Given the description of an element on the screen output the (x, y) to click on. 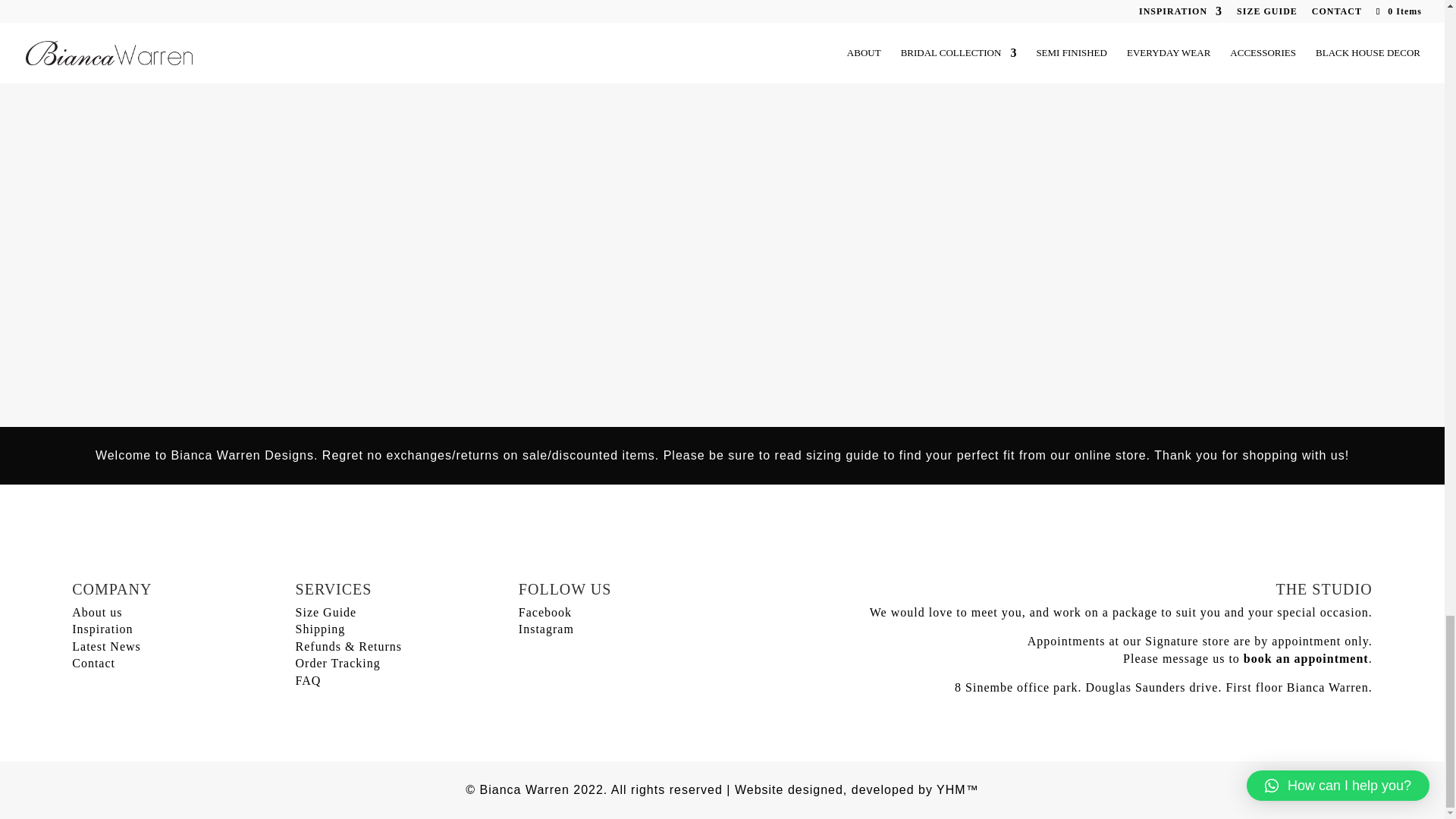
Contact Bianca Warren Designs (93, 662)
Bianca Warren Inspiration (101, 628)
Bianca Warren Designs (545, 612)
Facebook (545, 612)
Inspiration (101, 628)
Book an appointment (1305, 658)
Size Guide (325, 612)
Bianca Warren Design Instagram (545, 628)
Contact (93, 662)
book an appointment (1305, 658)
